Given the description of an element on the screen output the (x, y) to click on. 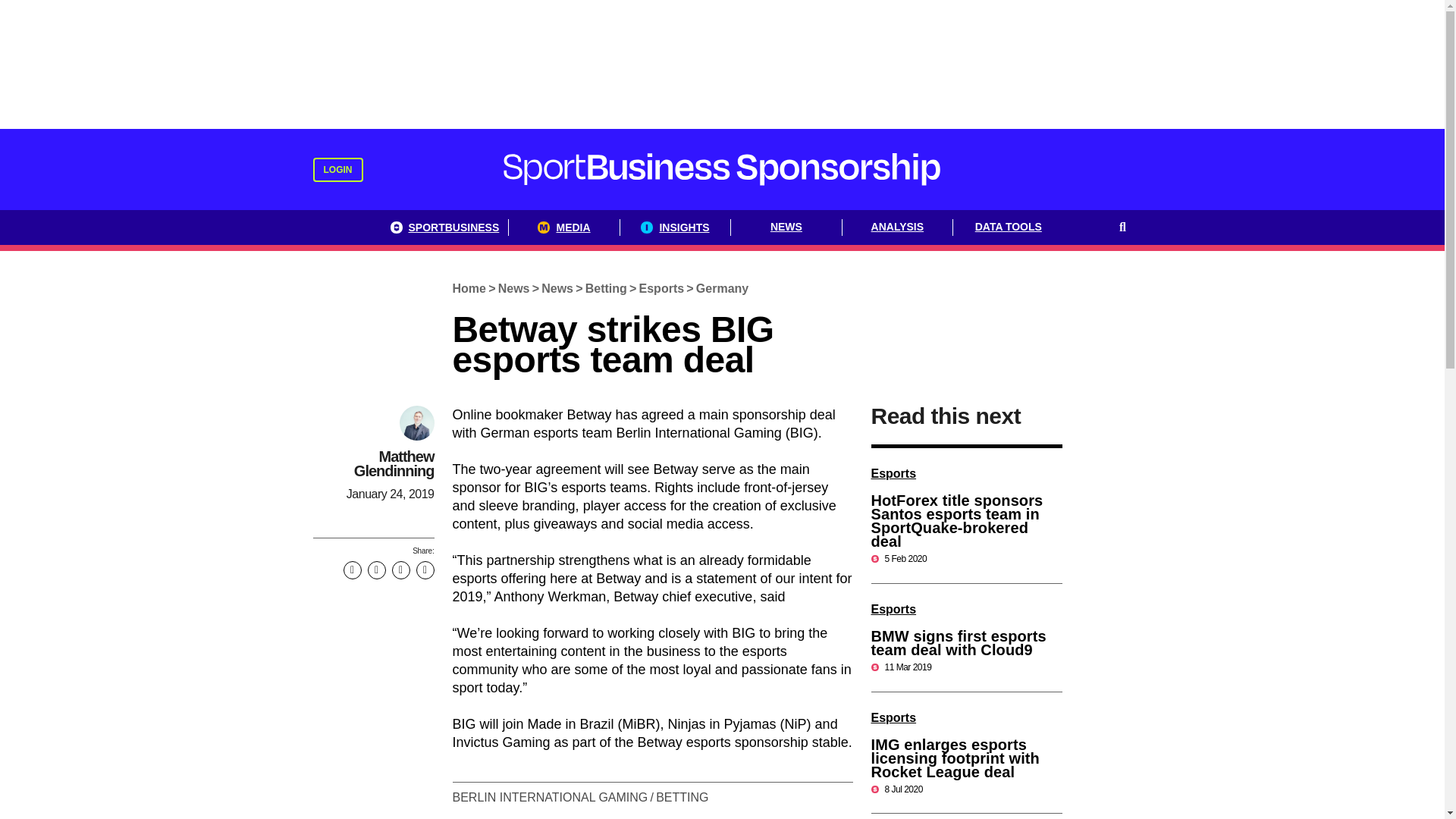
ANALYSIS (897, 227)
News (513, 288)
BMW signs first esports team deal with Cloud9 (957, 643)
SPORTBUSINESS (444, 227)
Germany (722, 288)
Matthew Glendinning (393, 463)
3rd party ad content (721, 64)
News (556, 288)
LOGIN (337, 169)
Esports (892, 608)
Home (469, 288)
DATA TOOLS (1008, 227)
NEWS (786, 227)
Esports (660, 288)
INSIGHTS (674, 227)
